Given the description of an element on the screen output the (x, y) to click on. 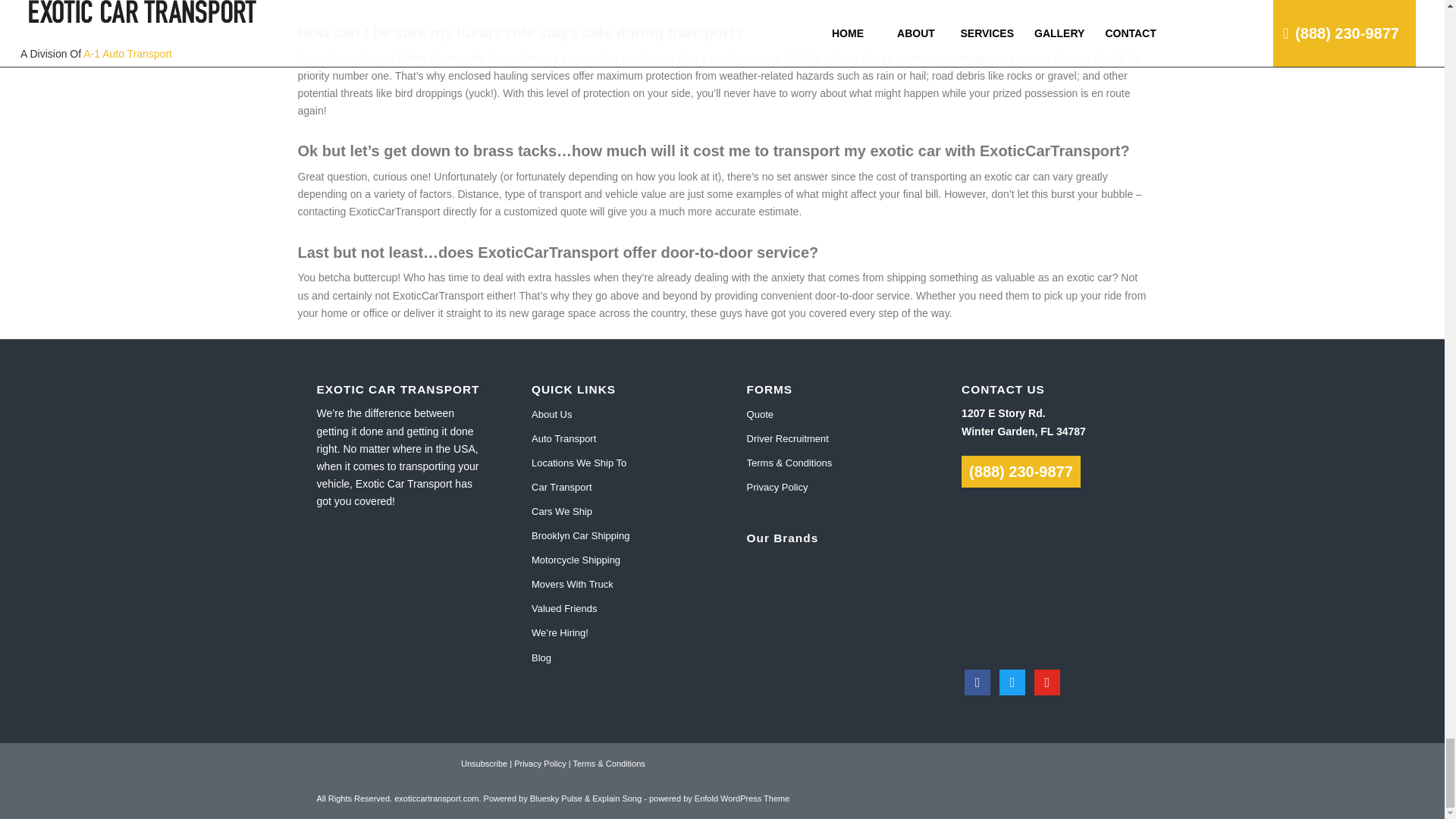
Locations We Ship To (614, 463)
Auto Transport (614, 438)
Movers With Truck (614, 584)
Brooklyn Car Shipping (614, 535)
Cars We Ship (614, 511)
Motorcycle Shipping (614, 559)
Twitter (1011, 680)
Car Transport (614, 487)
About Us (614, 414)
Facebook (976, 680)
